Given the description of an element on the screen output the (x, y) to click on. 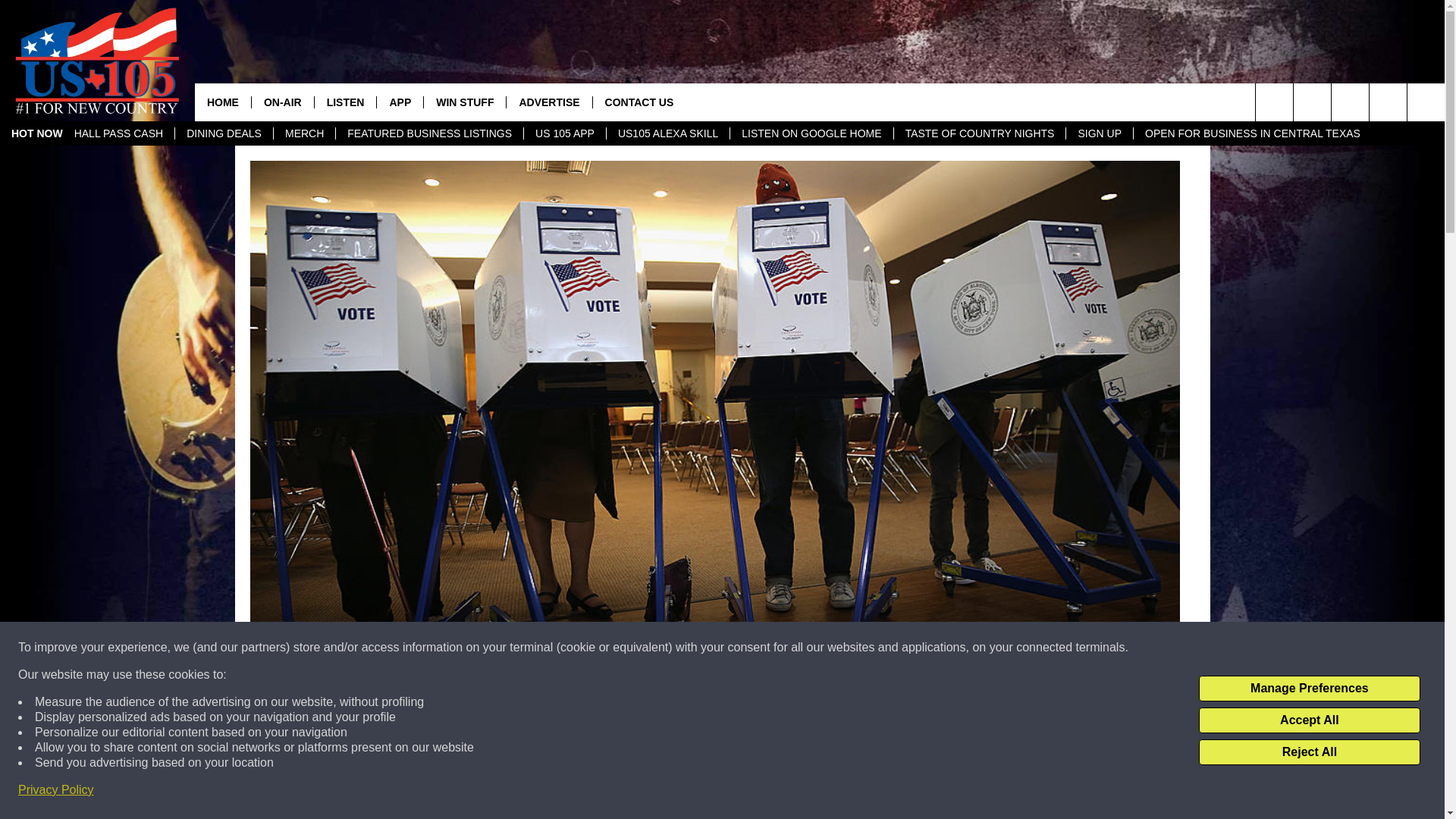
OPEN FOR BUSINESS IN CENTRAL TEXAS (1251, 133)
Share on Twitter (912, 791)
DINING DEALS (223, 133)
US105 ALEXA SKILL (667, 133)
SIGN UP (1098, 133)
FEATURED BUSINESS LISTINGS (428, 133)
ON-AIR (282, 102)
Privacy Policy (55, 789)
US 105 APP (563, 133)
Share on Facebook (517, 791)
APP (399, 102)
TASTE OF COUNTRY NIGHTS (979, 133)
LISTEN ON GOOGLE HOME (810, 133)
HALL PASS CASH (118, 133)
LISTEN (345, 102)
